Given the description of an element on the screen output the (x, y) to click on. 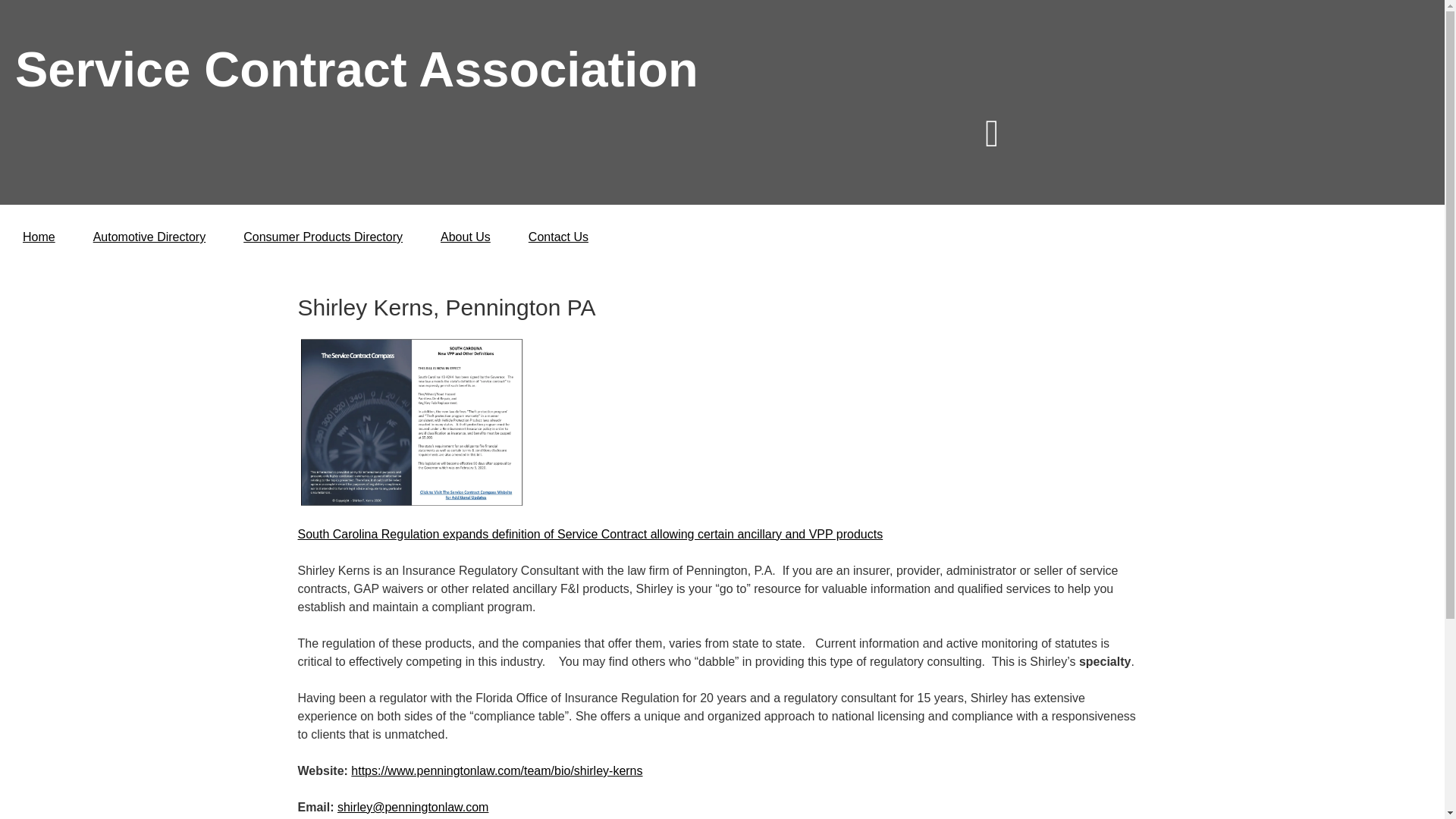
Contact Us (558, 237)
Consumer Products Directory (322, 237)
About Us (465, 237)
Home (38, 237)
Automotive Directory (149, 237)
